Given the description of an element on the screen output the (x, y) to click on. 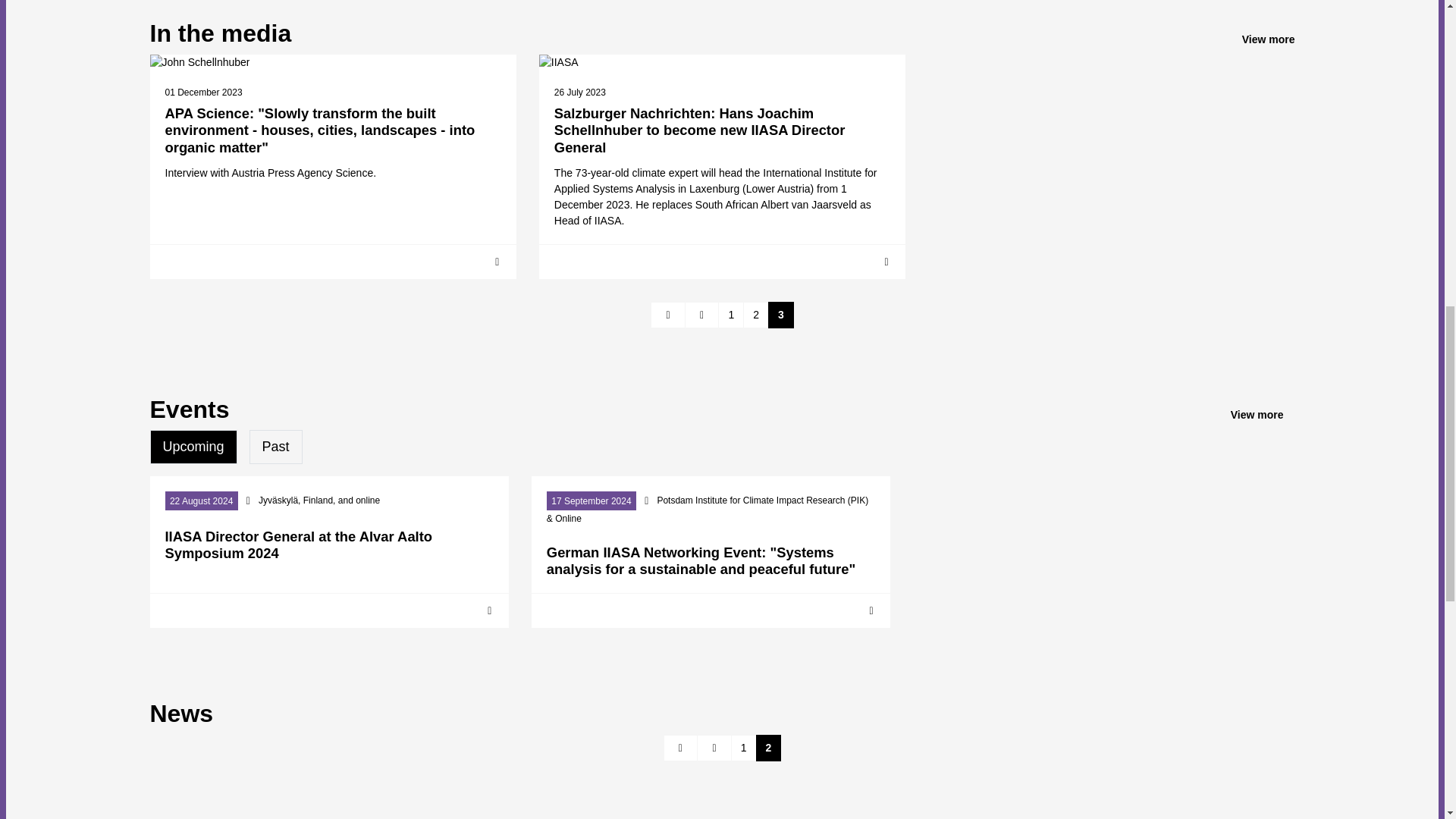
Go to first page (667, 315)
Go to previous page (701, 315)
Go to first page (680, 748)
Go to previous page (714, 748)
